Given the description of an element on the screen output the (x, y) to click on. 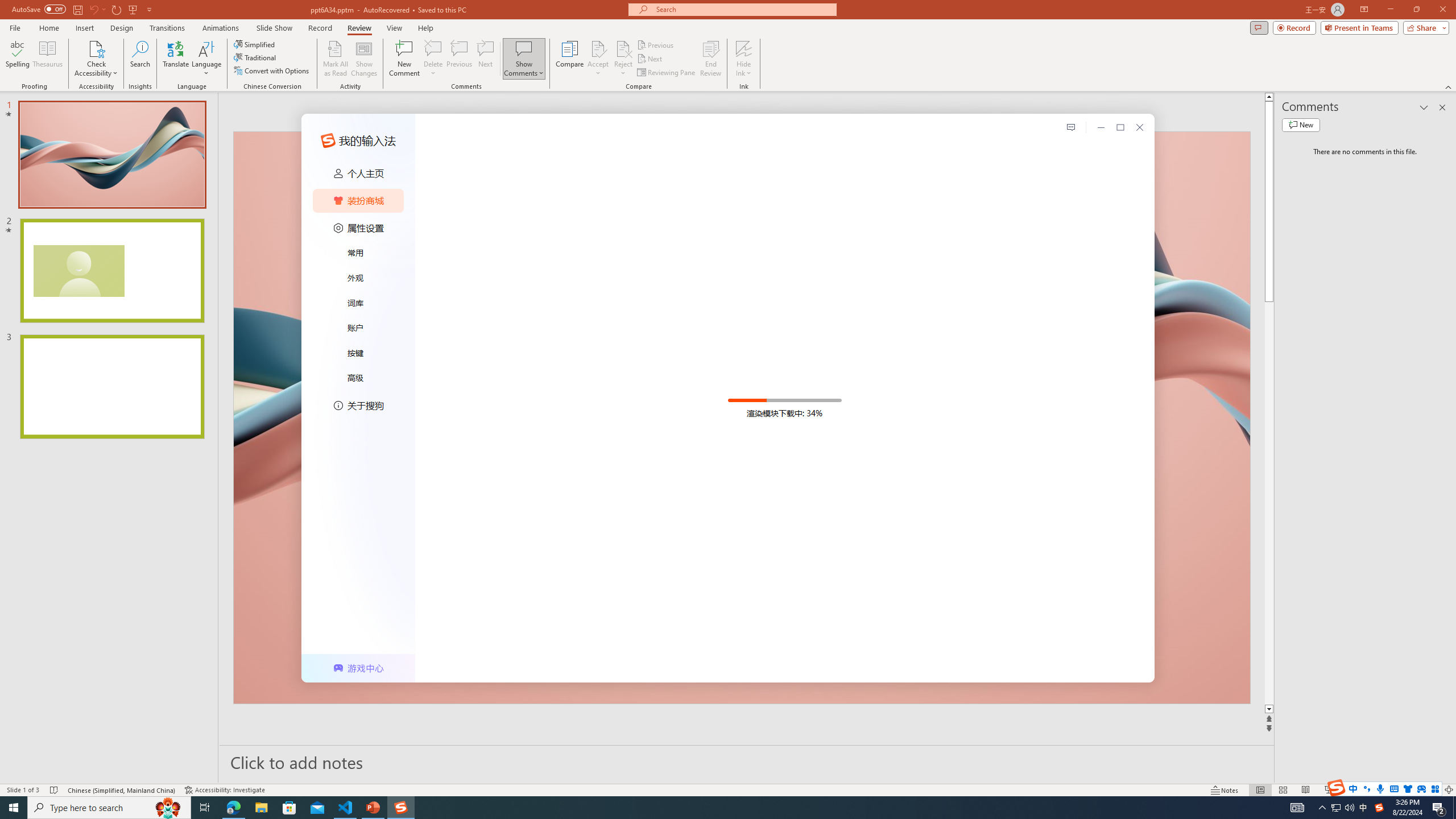
Show Changes (363, 58)
Accept (598, 58)
Reviewing Pane (666, 72)
